Given the description of an element on the screen output the (x, y) to click on. 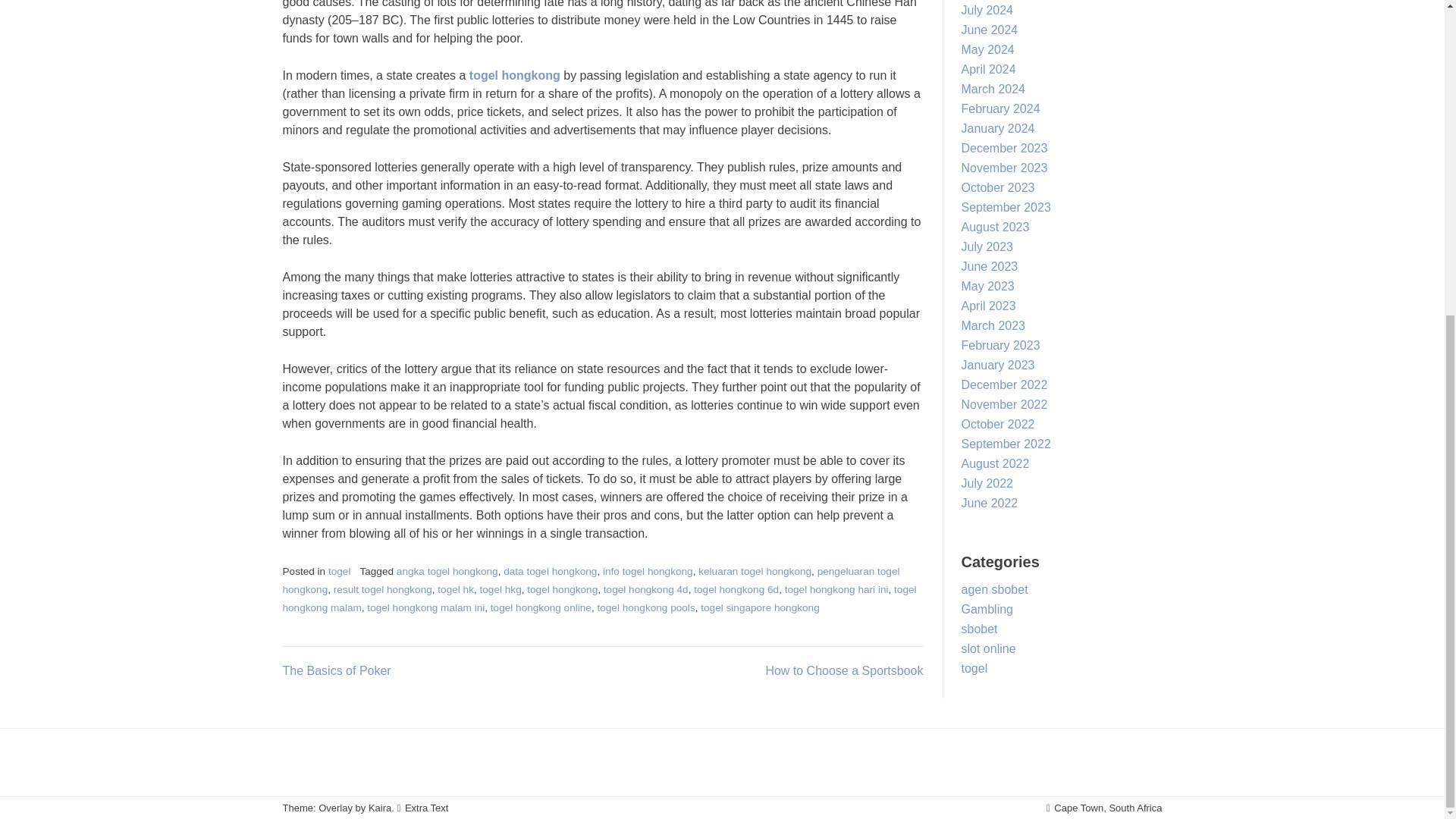
togel hongkong online (540, 607)
result togel hongkong (382, 589)
The Basics of Poker (336, 670)
togel hk (456, 589)
June 2024 (988, 29)
togel hongkong (514, 74)
data togel hongkong (549, 571)
togel hongkong malam (598, 598)
January 2024 (997, 128)
July 2024 (986, 10)
angka togel hongkong (446, 571)
info togel hongkong (647, 571)
February 2024 (1000, 108)
May 2024 (987, 49)
April 2024 (988, 69)
